Given the description of an element on the screen output the (x, y) to click on. 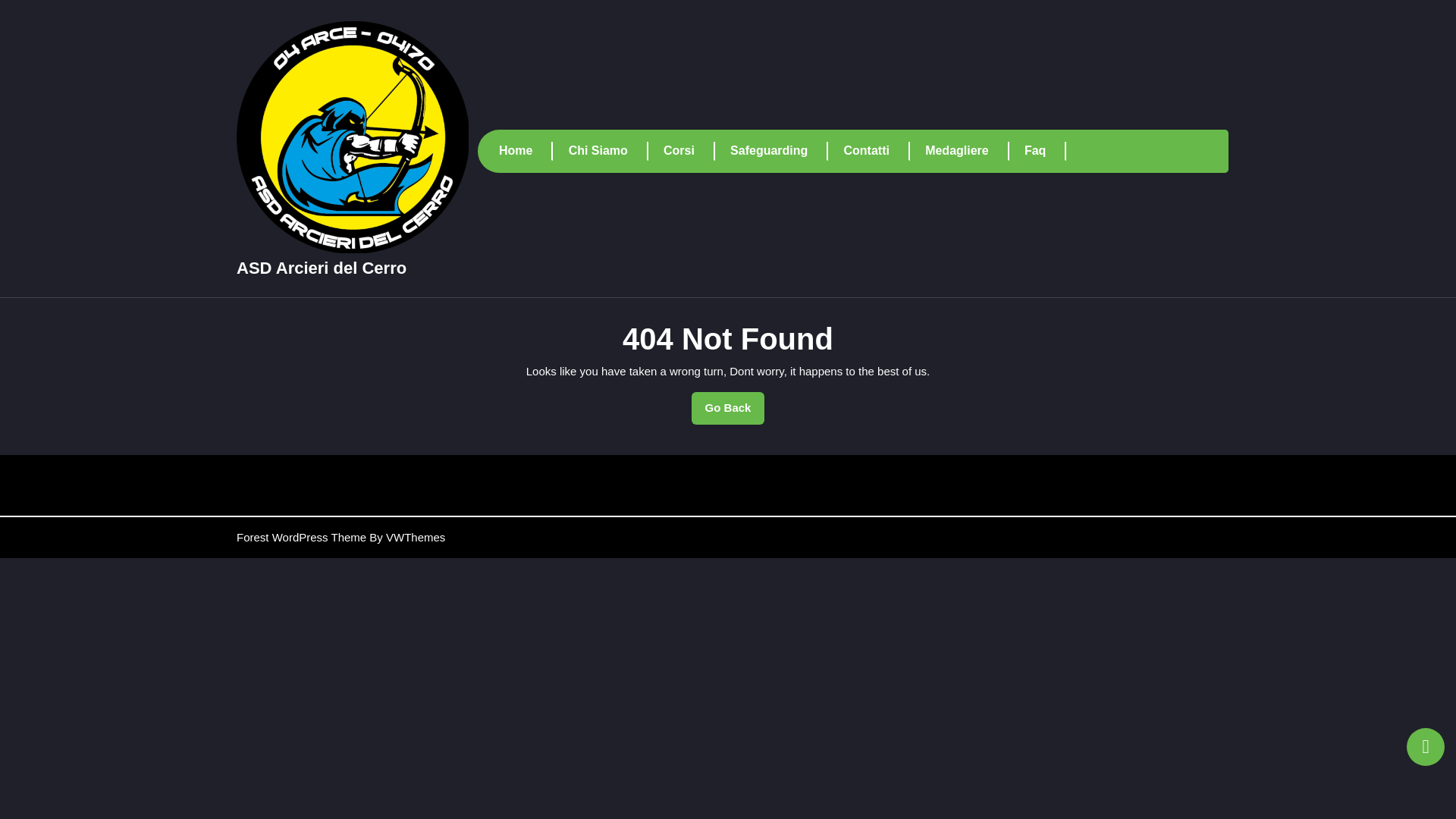
Corsi (728, 408)
Chi Siamo (688, 150)
Safeguarding (608, 150)
Faq (779, 150)
Forest WordPress Theme (1045, 150)
Contatti (300, 536)
ASD Arcieri del Cerro (877, 150)
Medagliere (320, 267)
Home (966, 150)
